Given the description of an element on the screen output the (x, y) to click on. 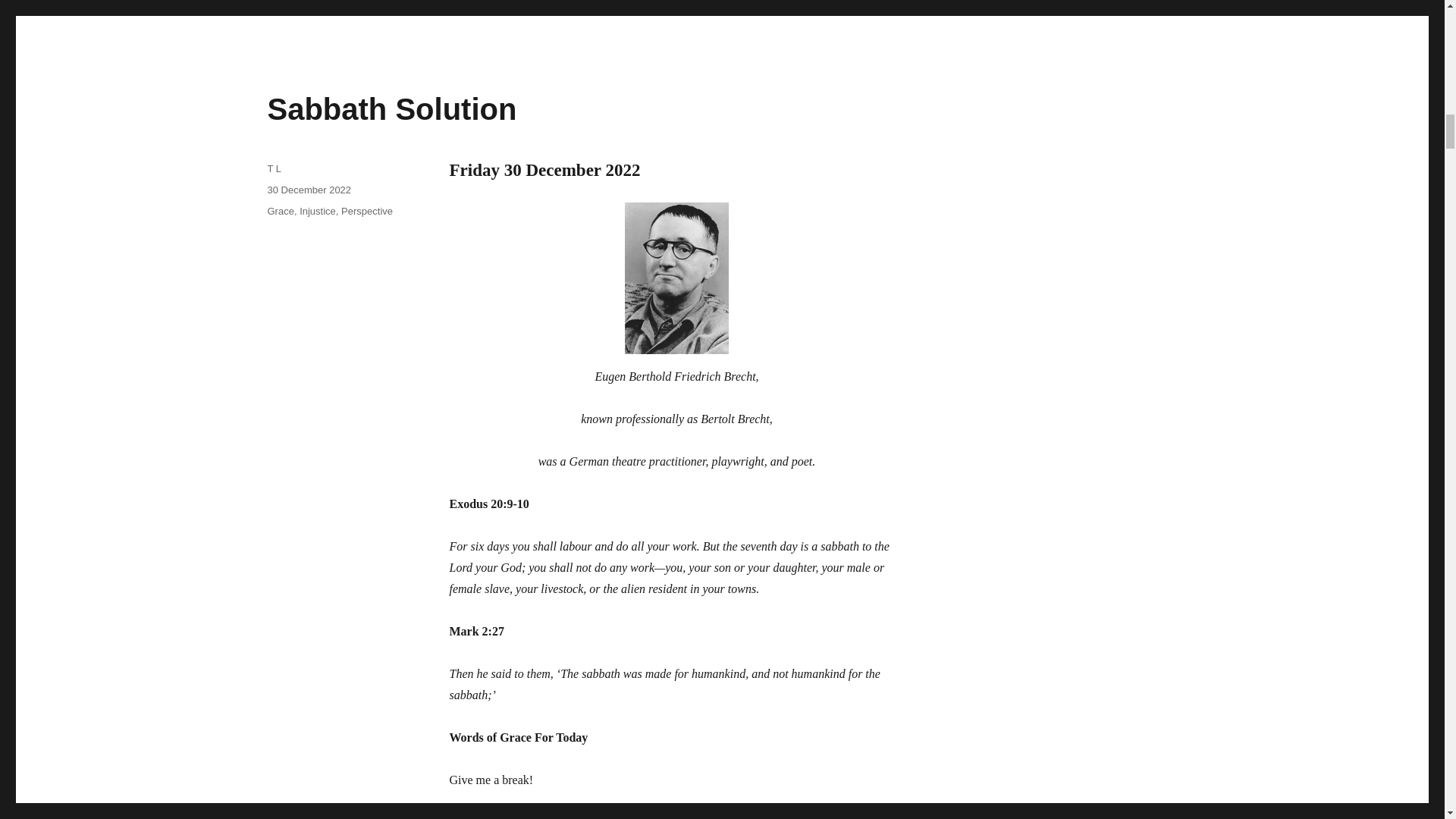
T L (273, 168)
30 December 2022 (308, 189)
Injustice (317, 211)
Grace (280, 211)
Sabbath Solution (391, 109)
Perspective (366, 211)
